Given the description of an element on the screen output the (x, y) to click on. 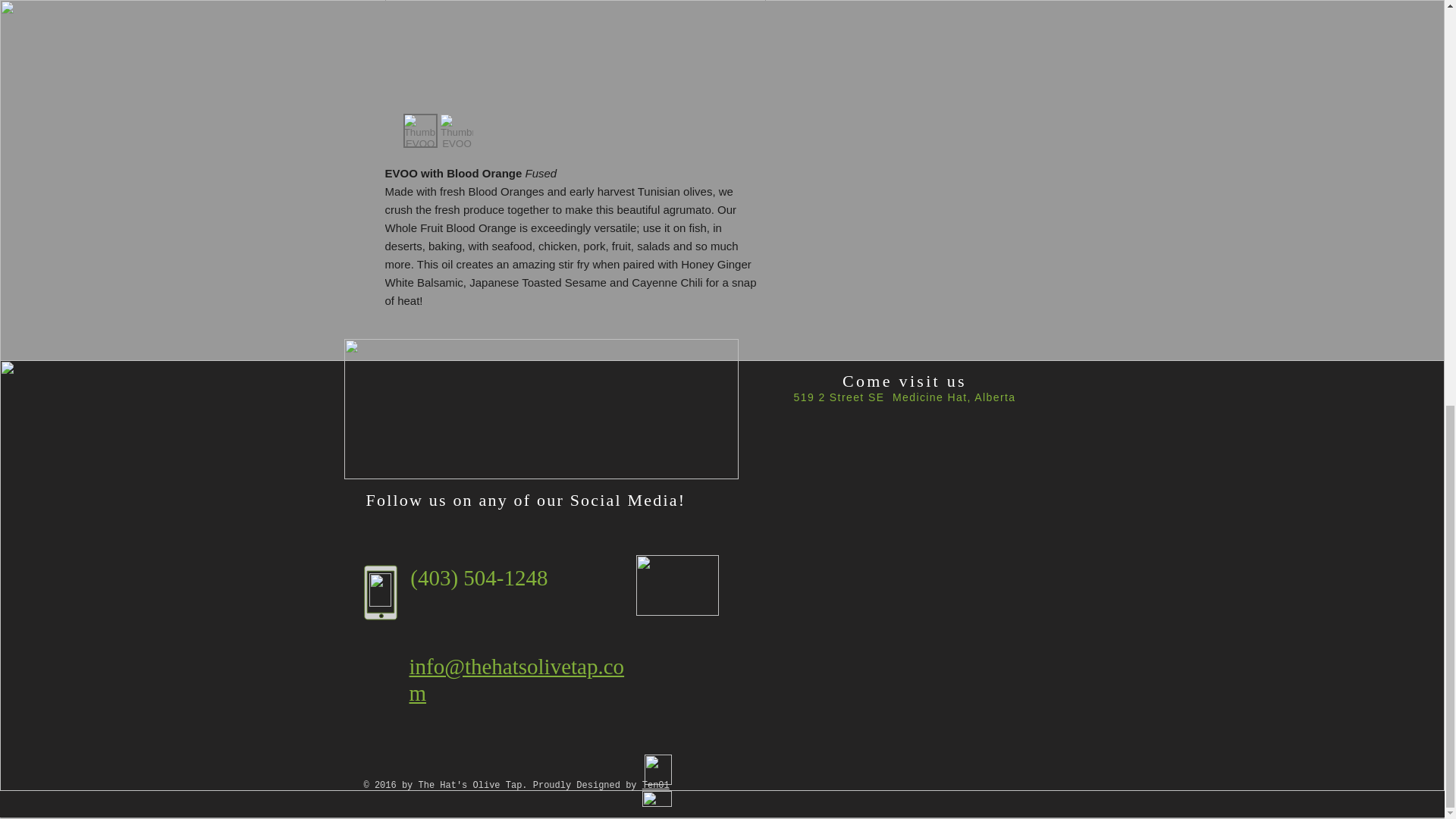
Ten01-Design-Website-Logo-Top.png (658, 769)
Ten01 (655, 785)
Ten01-Design-Website-Logo-Bottom.png (656, 798)
